Given the description of an element on the screen output the (x, y) to click on. 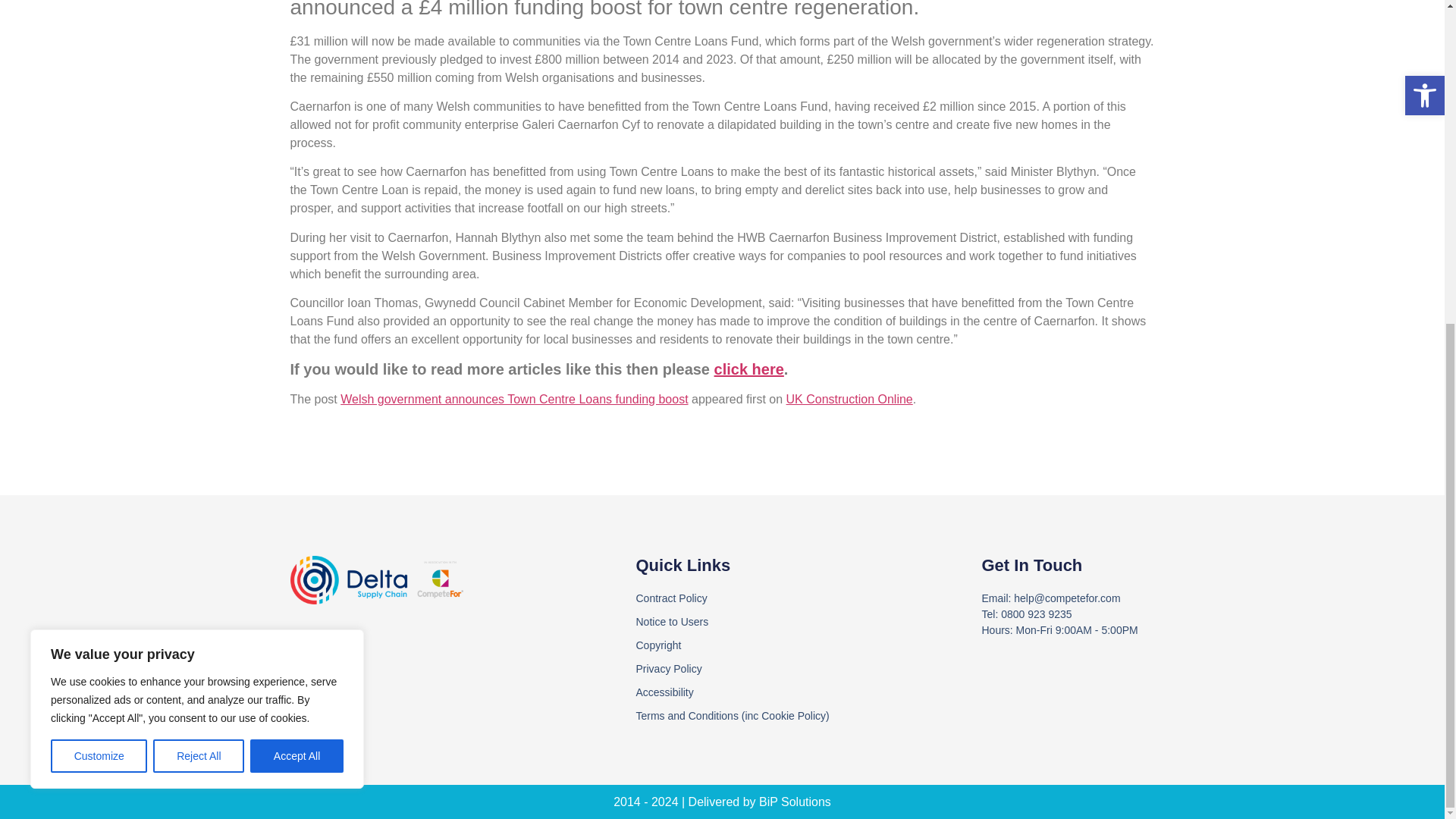
Reject All (198, 227)
Accept All (296, 227)
Customize (98, 227)
